Given the description of an element on the screen output the (x, y) to click on. 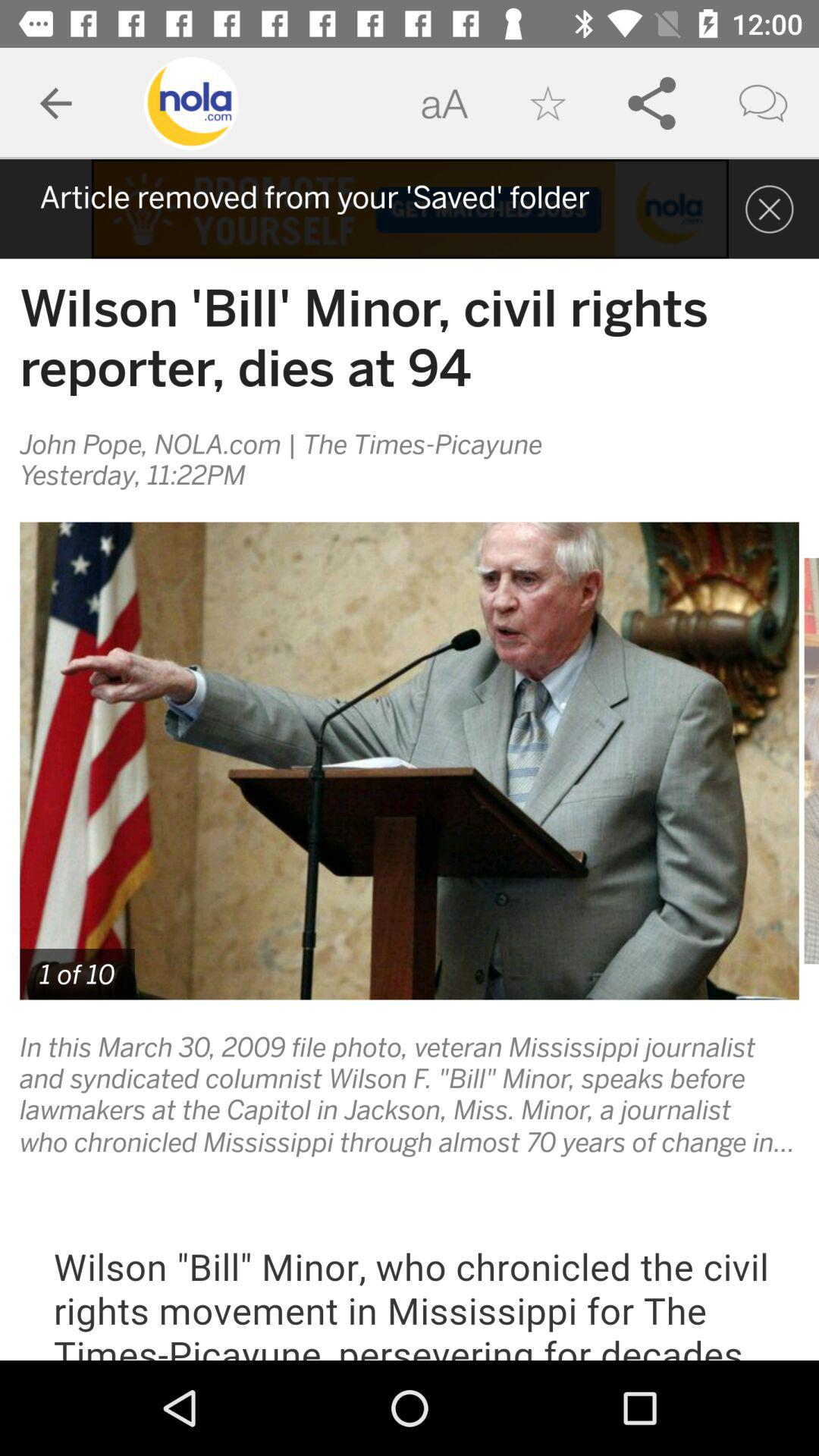
information guide (409, 208)
